Given the description of an element on the screen output the (x, y) to click on. 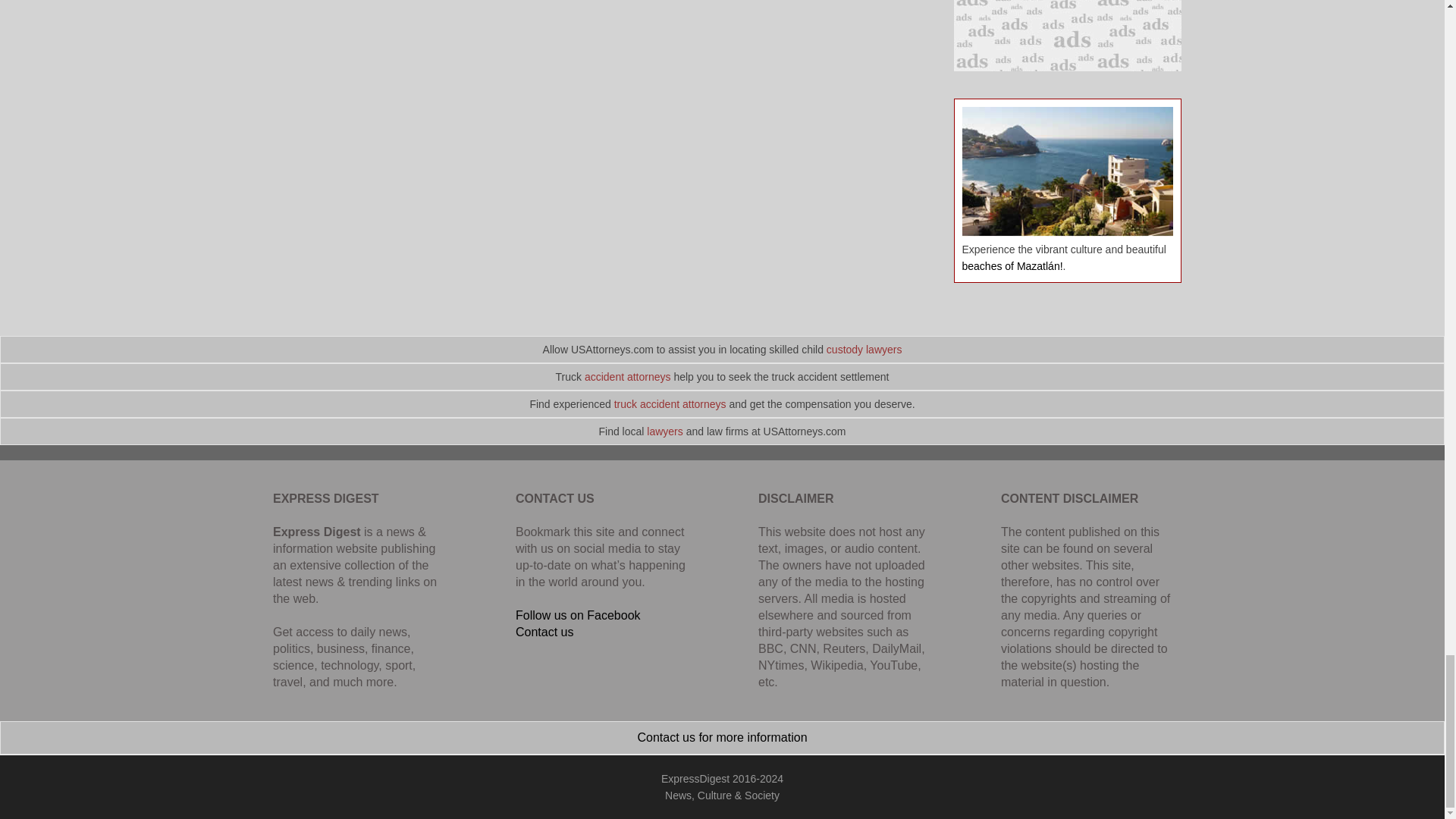
lawyers (664, 431)
custody lawyers (864, 349)
accident attorneys (628, 377)
truck accident attorneys (670, 404)
